Given the description of an element on the screen output the (x, y) to click on. 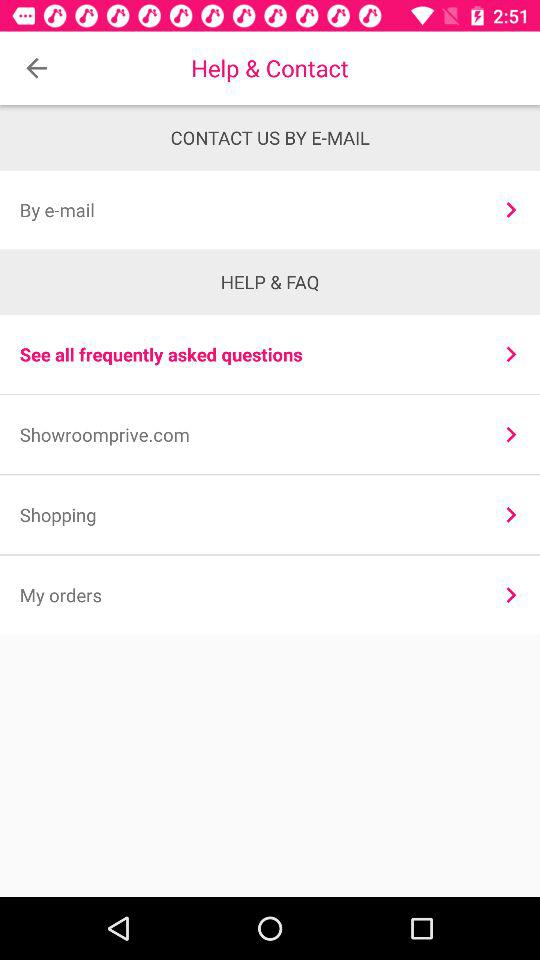
click the icon to the left of the help & contact item (36, 68)
